Given the description of an element on the screen output the (x, y) to click on. 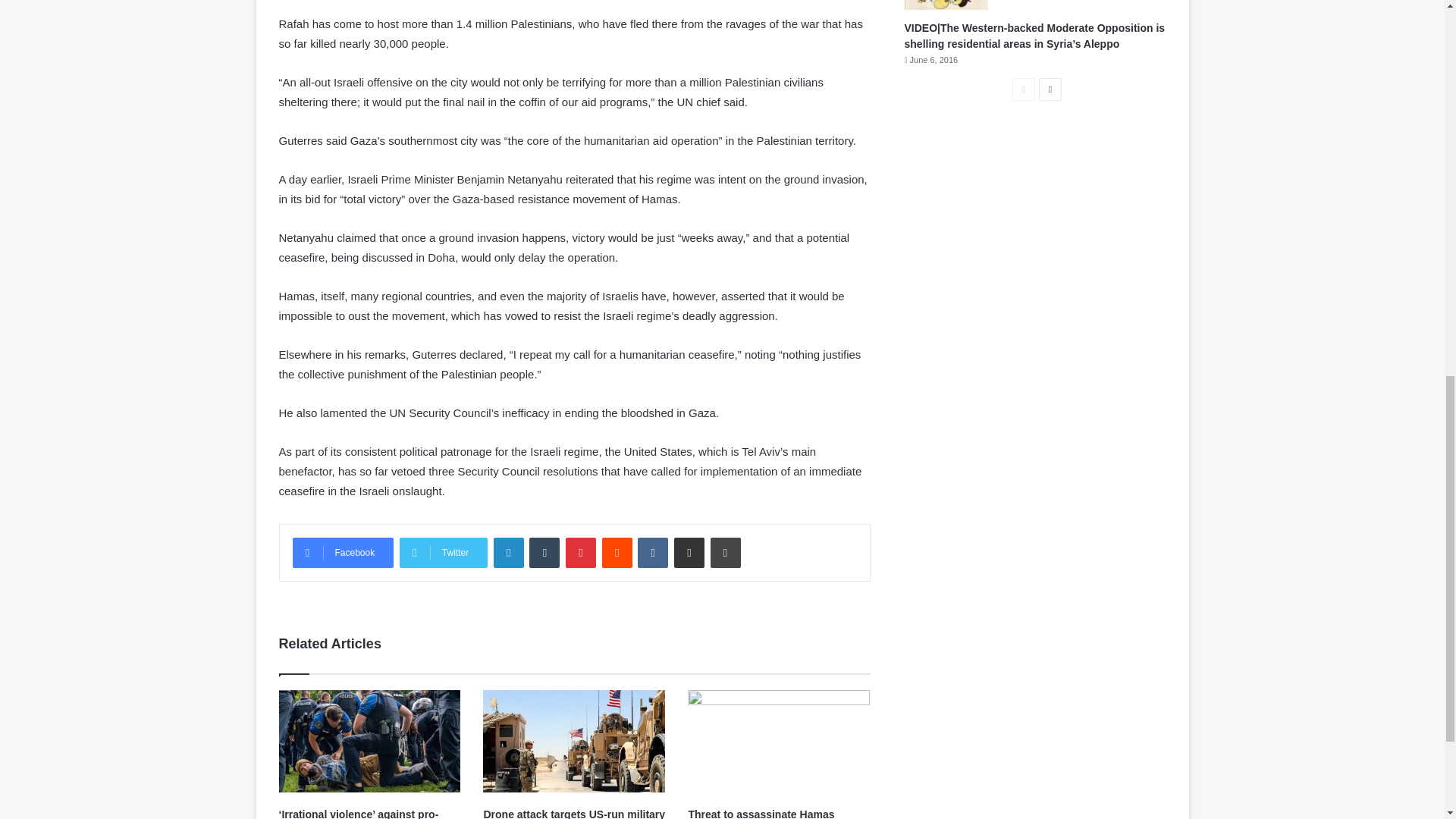
VKontakte (652, 552)
LinkedIn (508, 552)
Reddit (616, 552)
Share via Email (689, 552)
Pinterest (580, 552)
Twitter (442, 552)
Facebook (343, 552)
Print (725, 552)
Tumblr (544, 552)
